Given the description of an element on the screen output the (x, y) to click on. 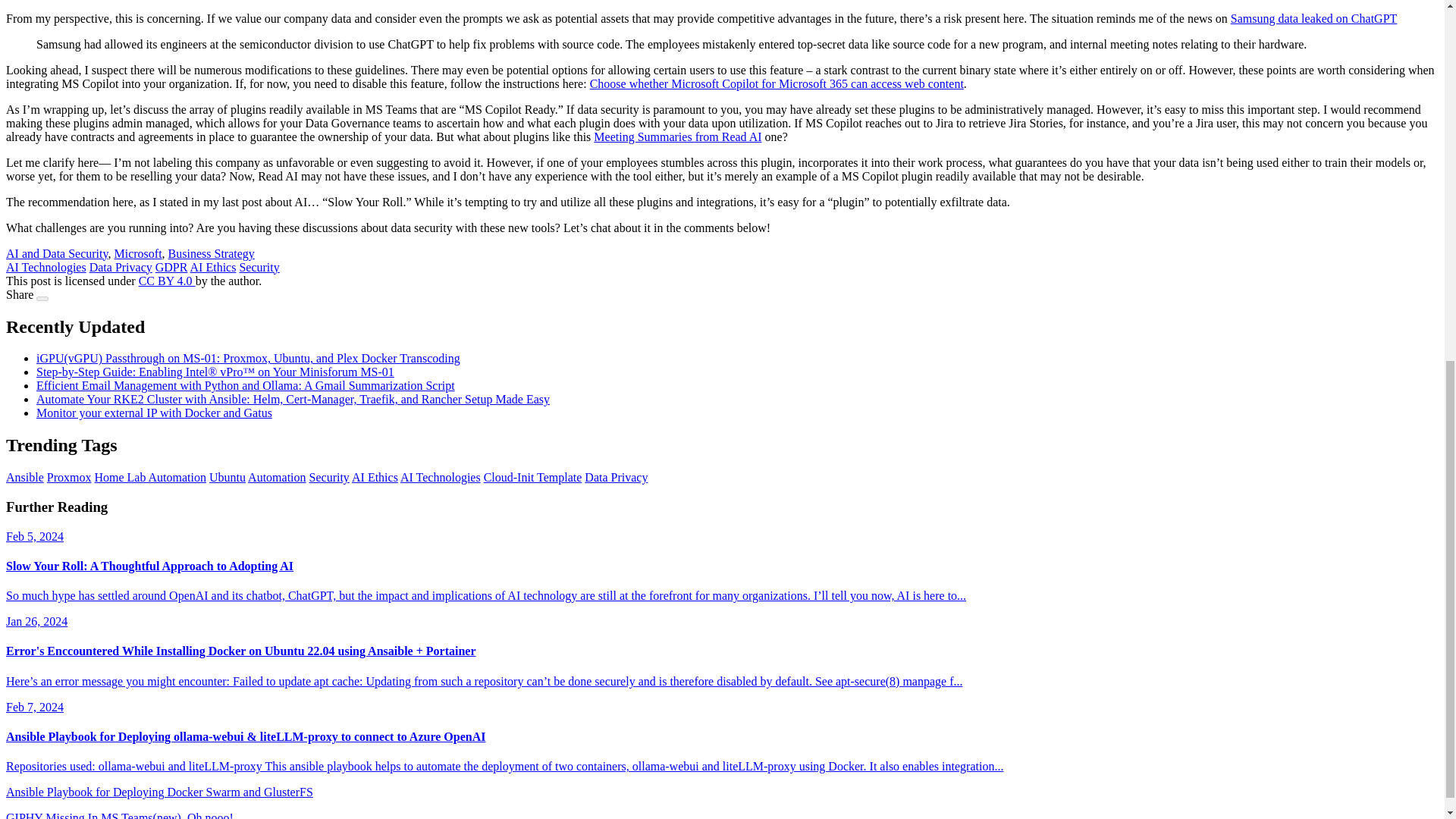
AI Technologies (45, 267)
AI and Data Security (56, 253)
CC BY 4.0 (166, 280)
Copy link (42, 298)
Samsung data leaked on ChatGPT (1313, 18)
AI Ethics (212, 267)
GDPR (171, 267)
Meeting Summaries from Read AI (677, 136)
